Given the description of an element on the screen output the (x, y) to click on. 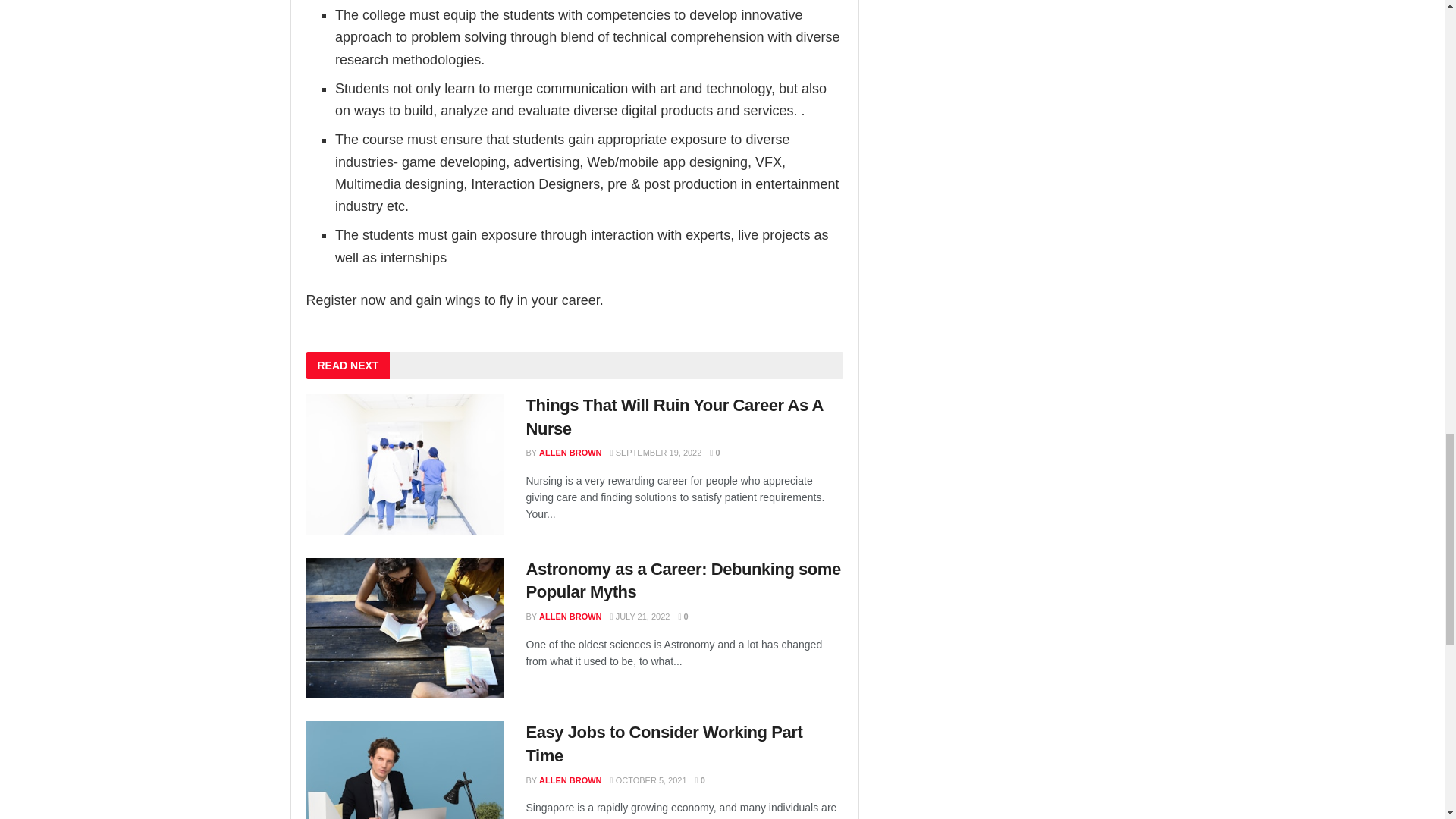
0 (714, 452)
SEPTEMBER 19, 2022 (655, 452)
Things That Will Ruin Your Career As A Nurse (674, 416)
ALLEN BROWN (570, 452)
